Given the description of an element on the screen output the (x, y) to click on. 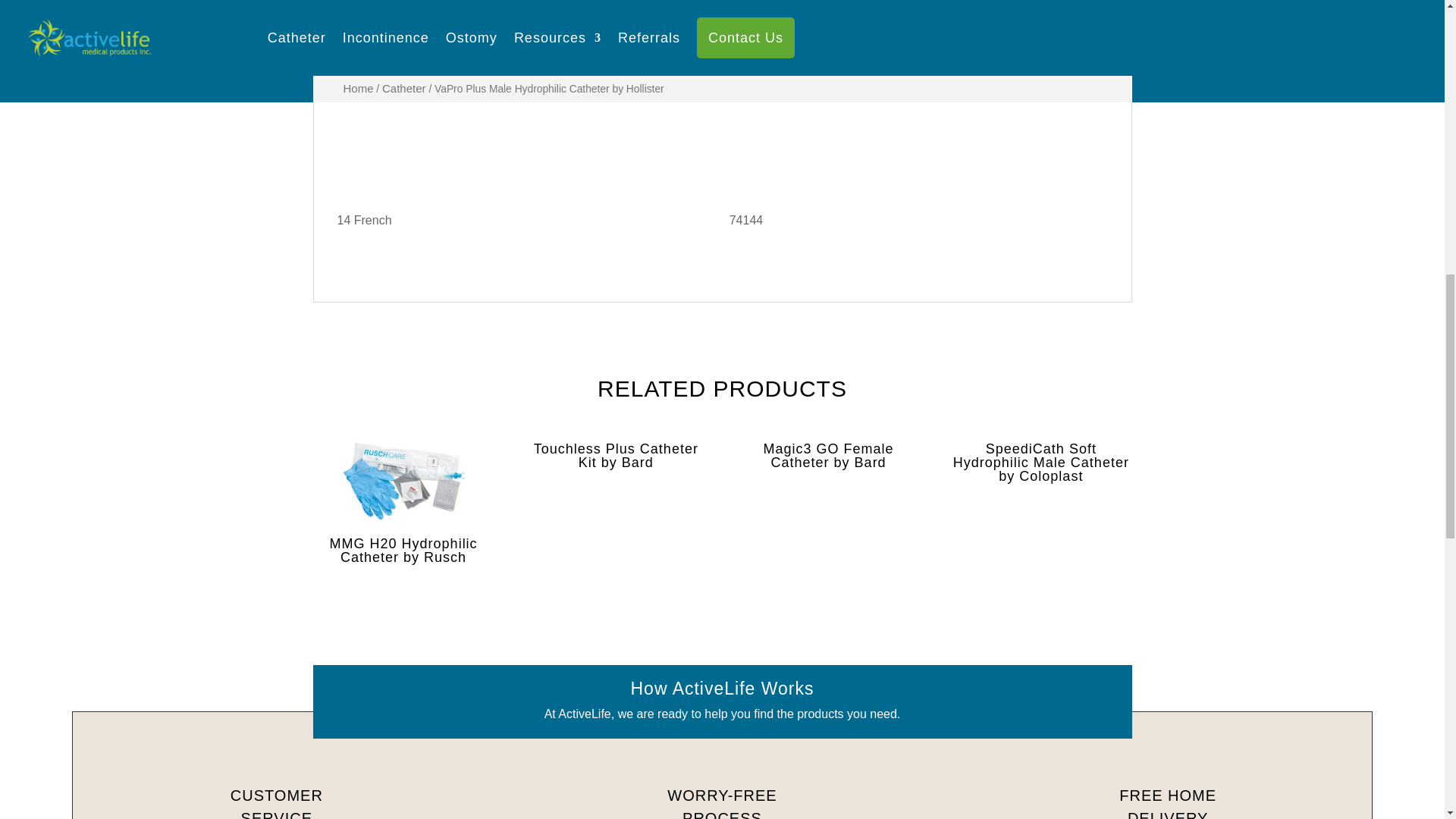
SpeediCath Soft Hydrophilic Male Catheter by Coloplast (1040, 461)
Touchless Plus Catheter Kit by Bard (615, 454)
MMG H20 Hydrophilic Catheter by Rusch (403, 502)
Magic3 GO Female Catheter by Bard (828, 454)
